Given the description of an element on the screen output the (x, y) to click on. 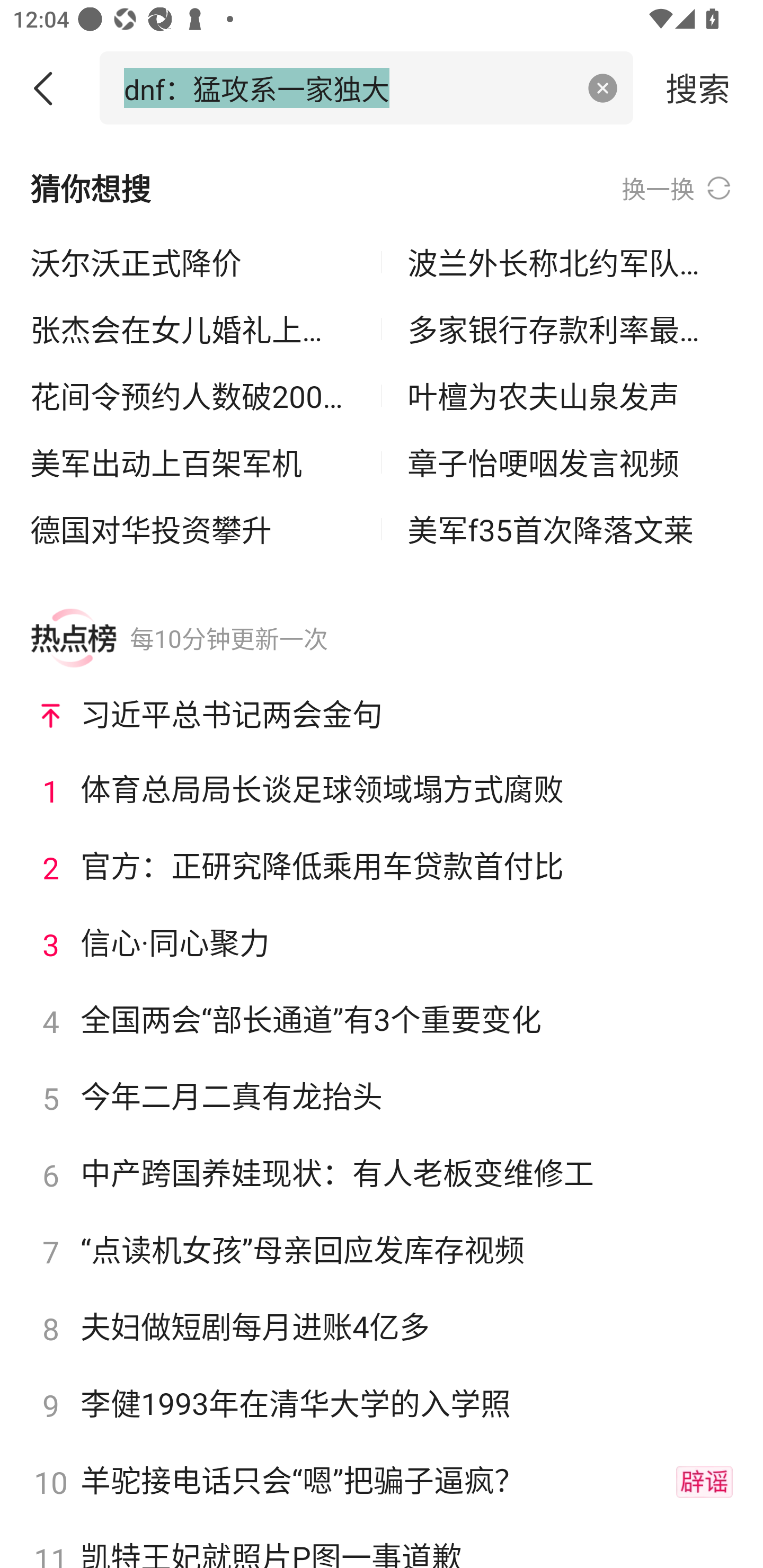
返回 (49, 87)
搜索 (698, 87)
dnf：猛攻系一家独大 (347, 87)
清空 (602, 88)
换一换 (676, 187)
沃尔沃正式降价 (193, 262)
波兰外长称北约军队已抵达乌克兰 (569, 262)
张杰会在女儿婚礼上唱三生三世 (193, 329)
多家银行存款利率最高达10% (569, 329)
花间令预约人数破200万 (193, 395)
叶檀为农夫山泉发声 (569, 395)
美军出动上百架军机 (193, 462)
章子怡哽咽发言视频 (569, 462)
德国对华投资攀升 (193, 528)
美军f35首次降落文莱 (569, 528)
